Given the description of an element on the screen output the (x, y) to click on. 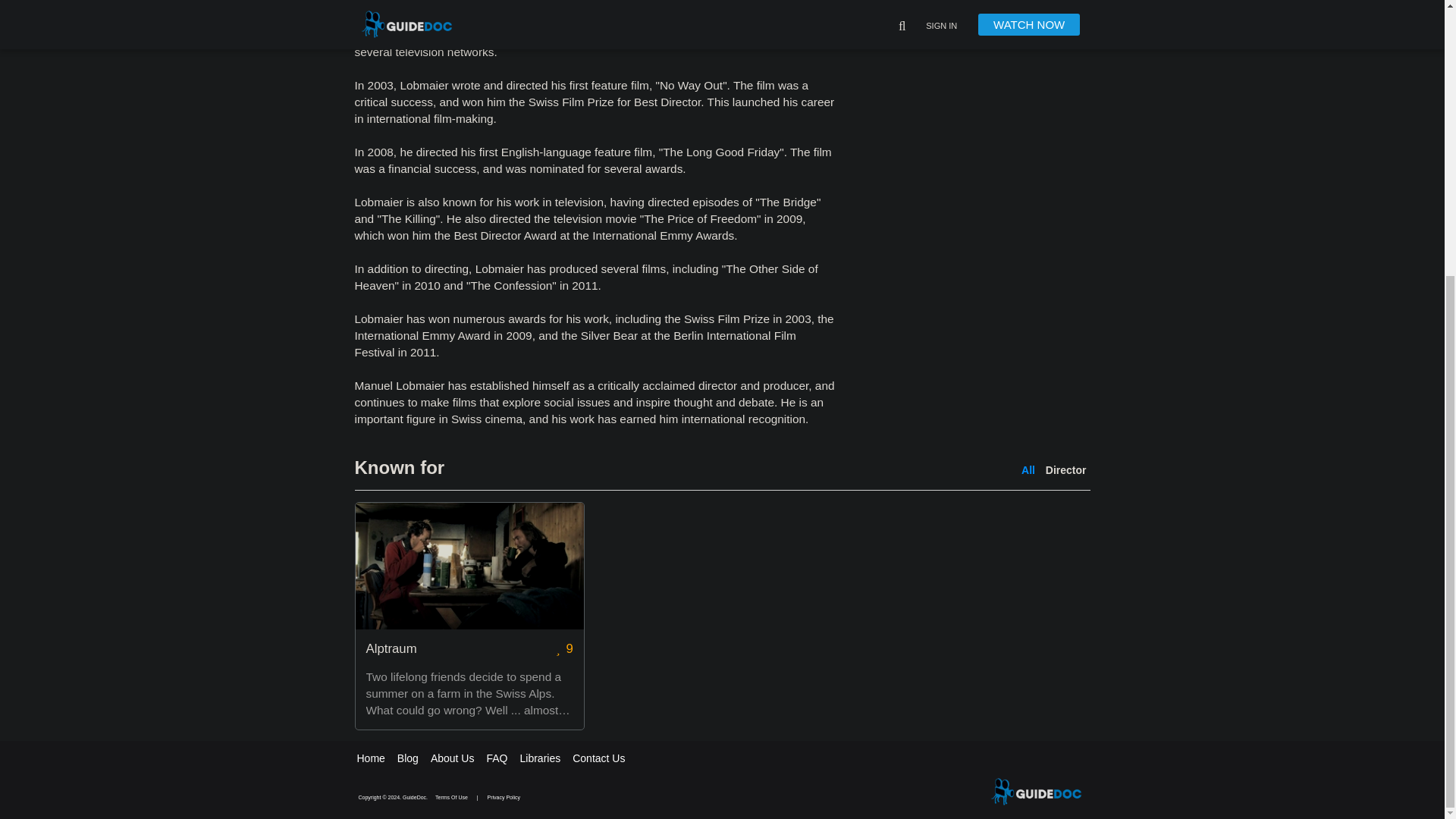
FAQ (496, 758)
Privacy Policy (504, 797)
About Us (452, 758)
Terms Of Use (451, 797)
Contact Us (598, 758)
Director (1065, 469)
All (1028, 469)
Libraries (539, 758)
Blog (408, 758)
Home (370, 758)
